Given the description of an element on the screen output the (x, y) to click on. 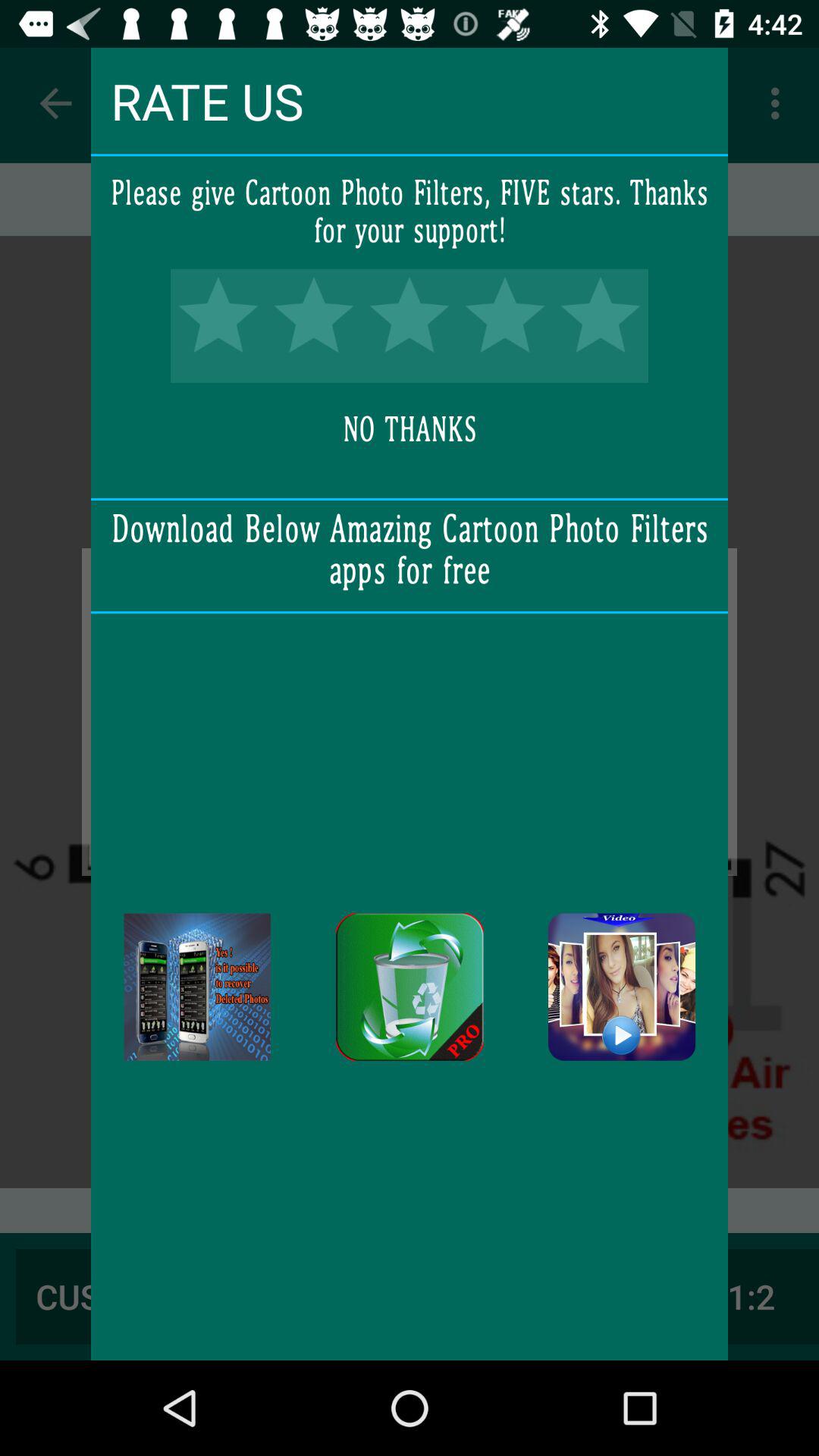
advert (197, 986)
